Given the description of an element on the screen output the (x, y) to click on. 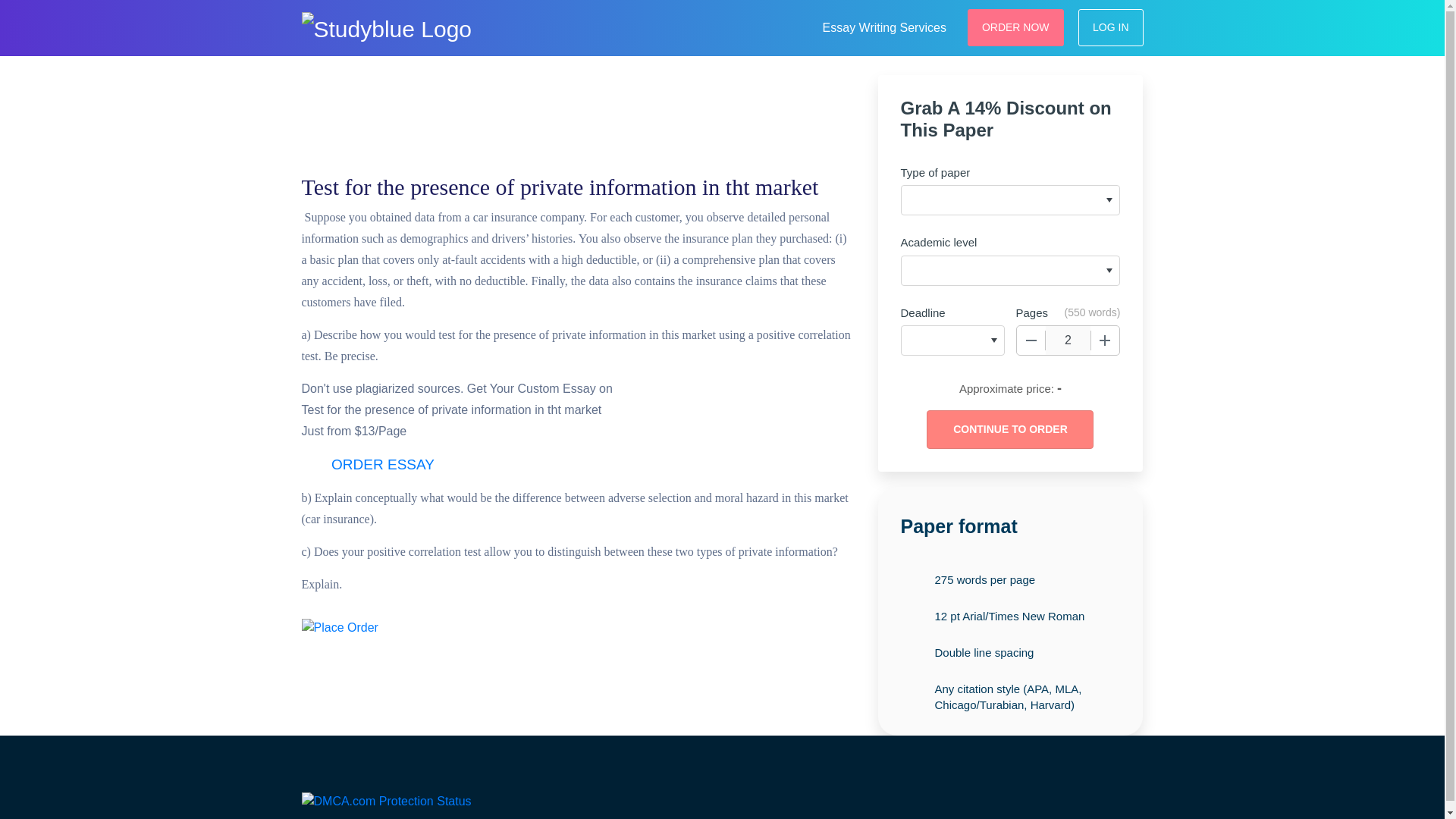
Decrease (1030, 339)
ORDER NOW (1016, 27)
LOG IN (1110, 27)
Place Order (339, 628)
Increase (1104, 339)
Essay Writing Services (884, 25)
Continue to order (1009, 429)
Essay Writing Services (884, 25)
Continue to order (1009, 429)
2 (1067, 339)
DMCA.com Protection Status (386, 799)
ORDER ESSAY (382, 465)
